Given the description of an element on the screen output the (x, y) to click on. 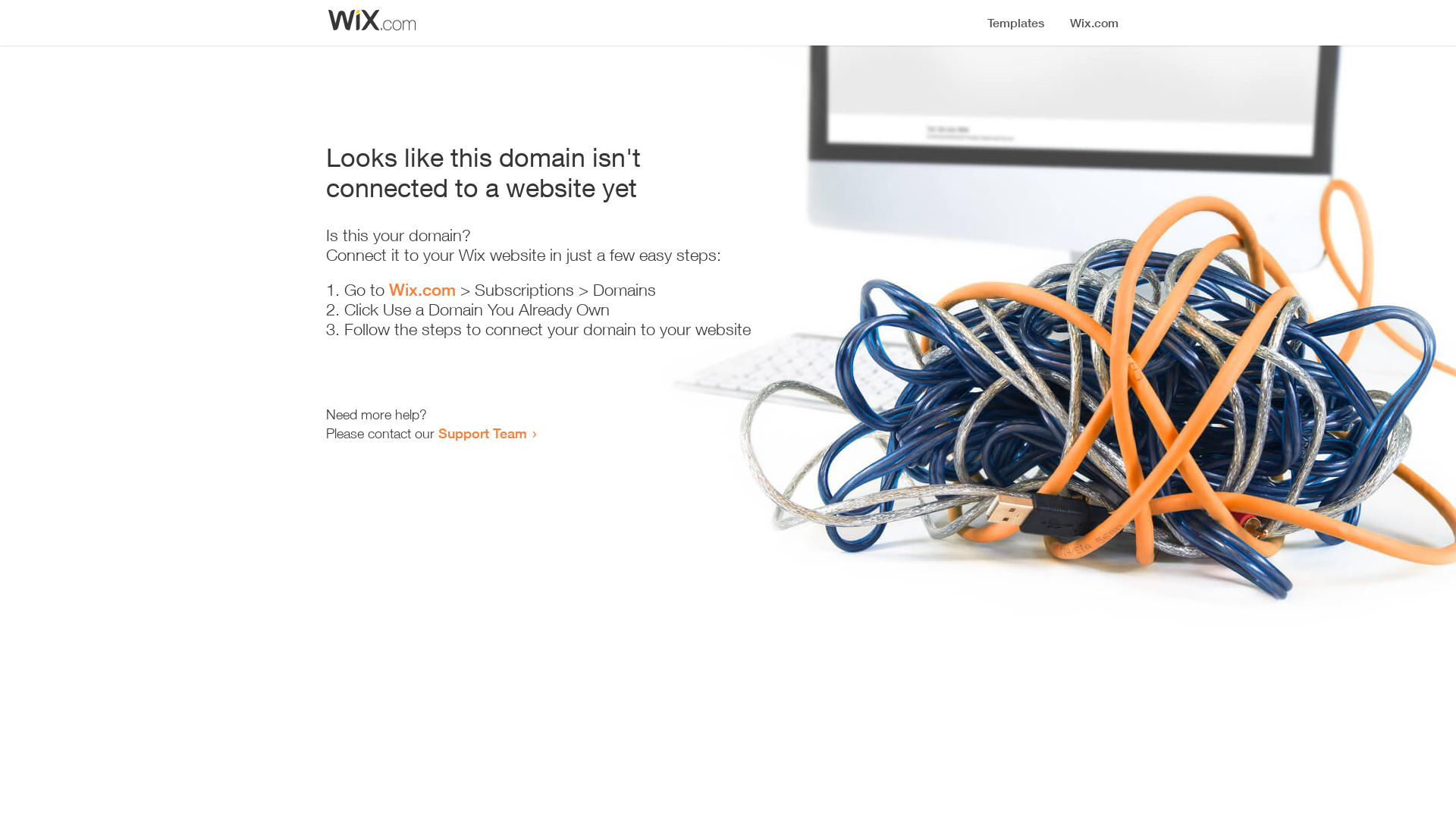
Support Team Element type: text (482, 432)
Wix.com Element type: text (422, 289)
